Given the description of an element on the screen output the (x, y) to click on. 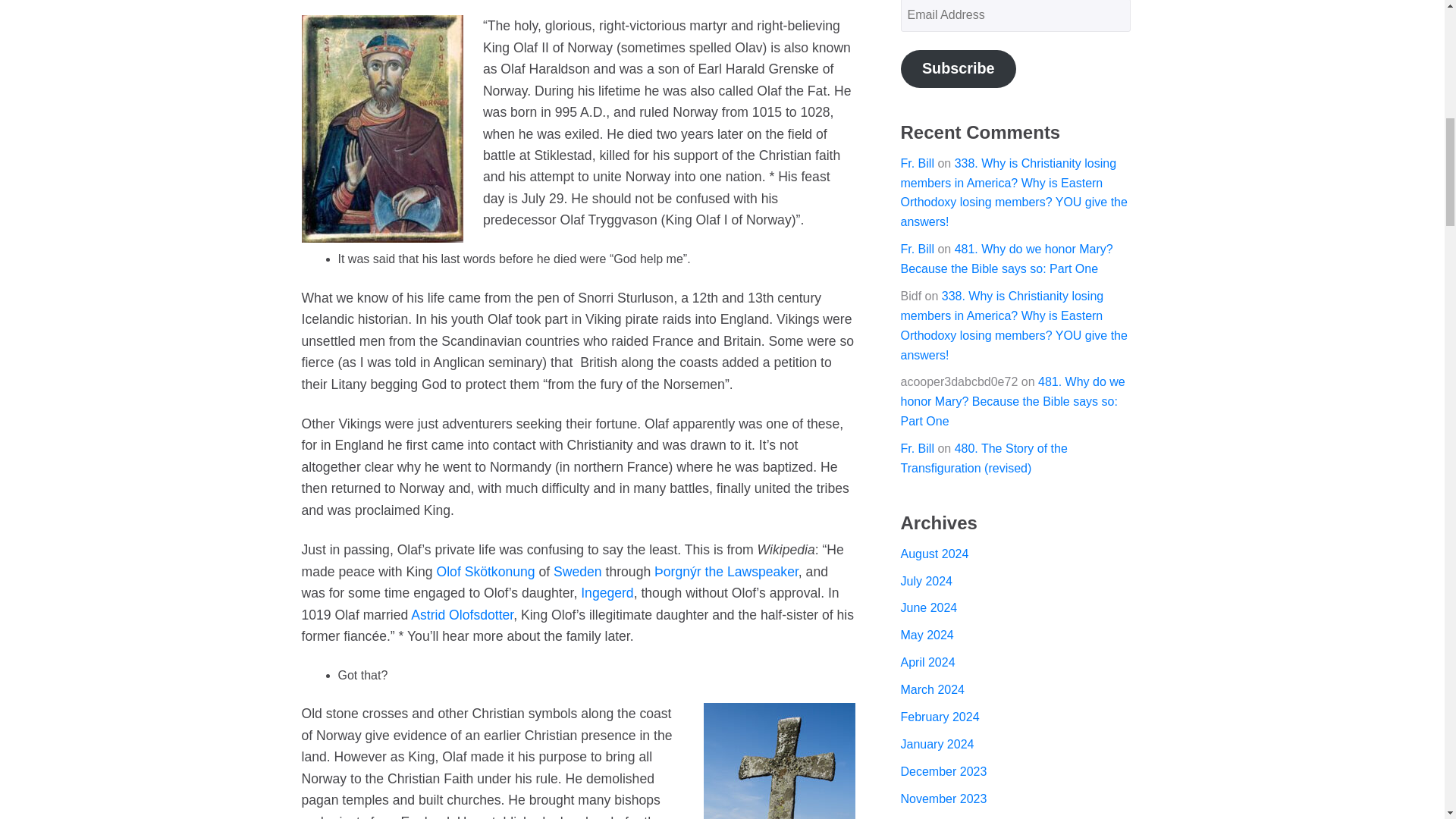
Fr. Bill (917, 248)
Fr. Bill (917, 163)
Ingegerd (606, 592)
Subscribe (958, 68)
Sweden (577, 571)
Astrid Olofsdotter (461, 614)
